Given the description of an element on the screen output the (x, y) to click on. 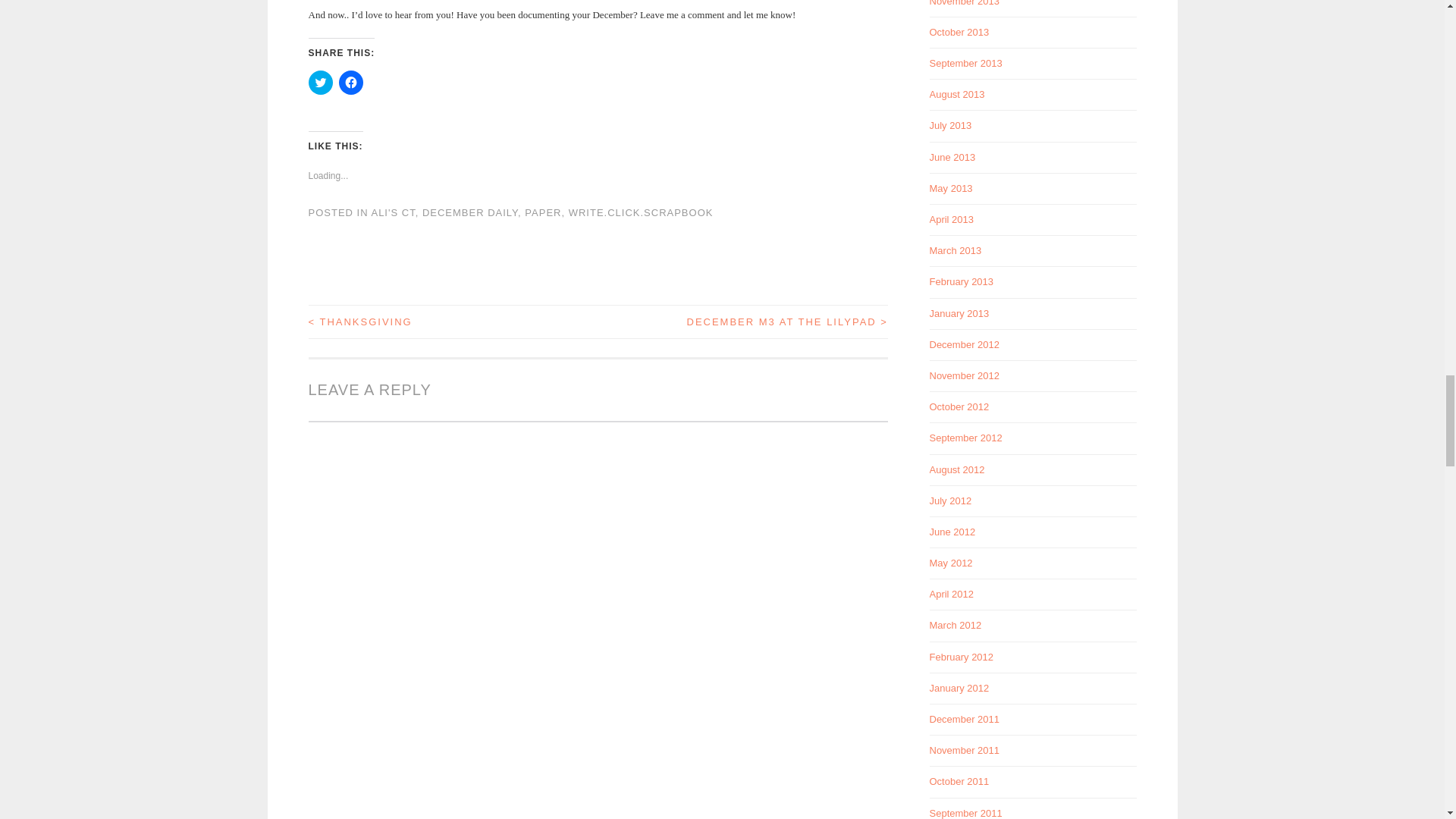
PAPER (542, 212)
DECEMBER DAILY (470, 212)
ALI'S CT (392, 212)
Click to share on Facebook (349, 82)
WRITE.CLICK.SCRAPBOOK (641, 212)
Click to share on Twitter (319, 82)
